Given the description of an element on the screen output the (x, y) to click on. 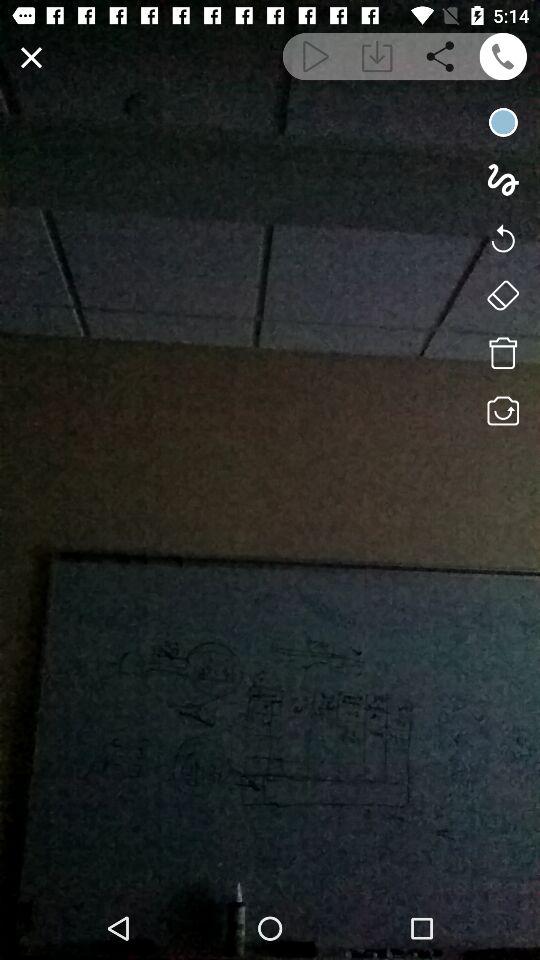
exit view mode (31, 57)
